Given the description of an element on the screen output the (x, y) to click on. 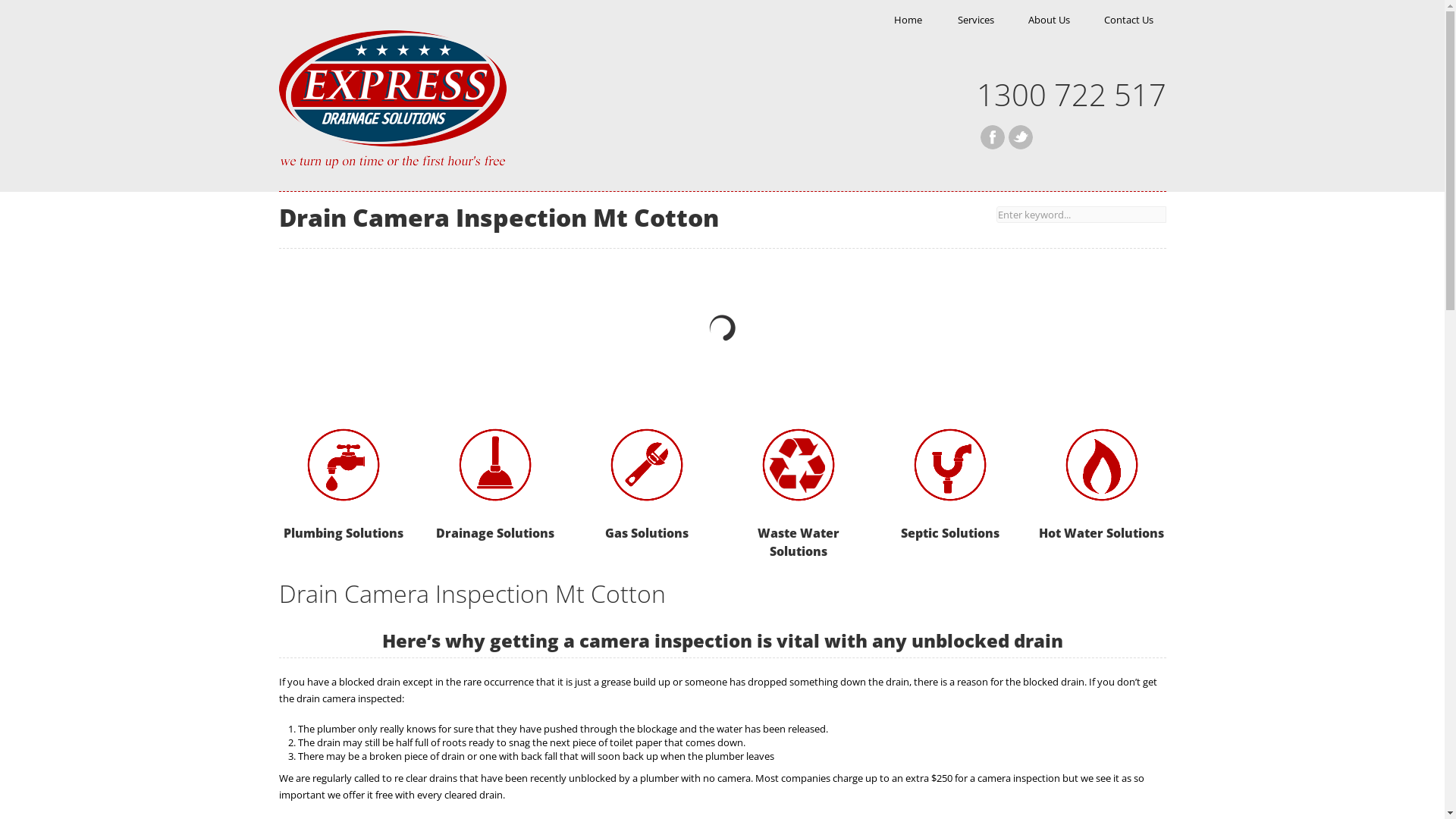
Home Element type: text (907, 19)
Septic Solutions Element type: hover (949, 464)
Septic Solutions Element type: text (949, 532)
Drainage Solutions Element type: text (494, 532)
Contact Us Element type: text (1127, 19)
Waste Water Solutions Element type: hover (798, 464)
Plumbing Solutions Element type: hover (343, 464)
About Us Element type: text (1048, 19)
Hot Water Solutions Element type: text (1101, 532)
Go Element type: text (10, 10)
Gas Solutions Element type: text (646, 532)
Waste Water Solutions Element type: text (797, 541)
Hot Water Solutions Element type: hover (1101, 464)
Facebook Element type: text (991, 137)
Services Element type: text (975, 19)
Drainage Solutions Element type: hover (494, 464)
Plumbing Solutions Element type: text (343, 532)
1300 722 517 Element type: text (1071, 105)
Twitter Element type: text (1020, 137)
Gas Solutions Element type: hover (646, 464)
